Given the description of an element on the screen output the (x, y) to click on. 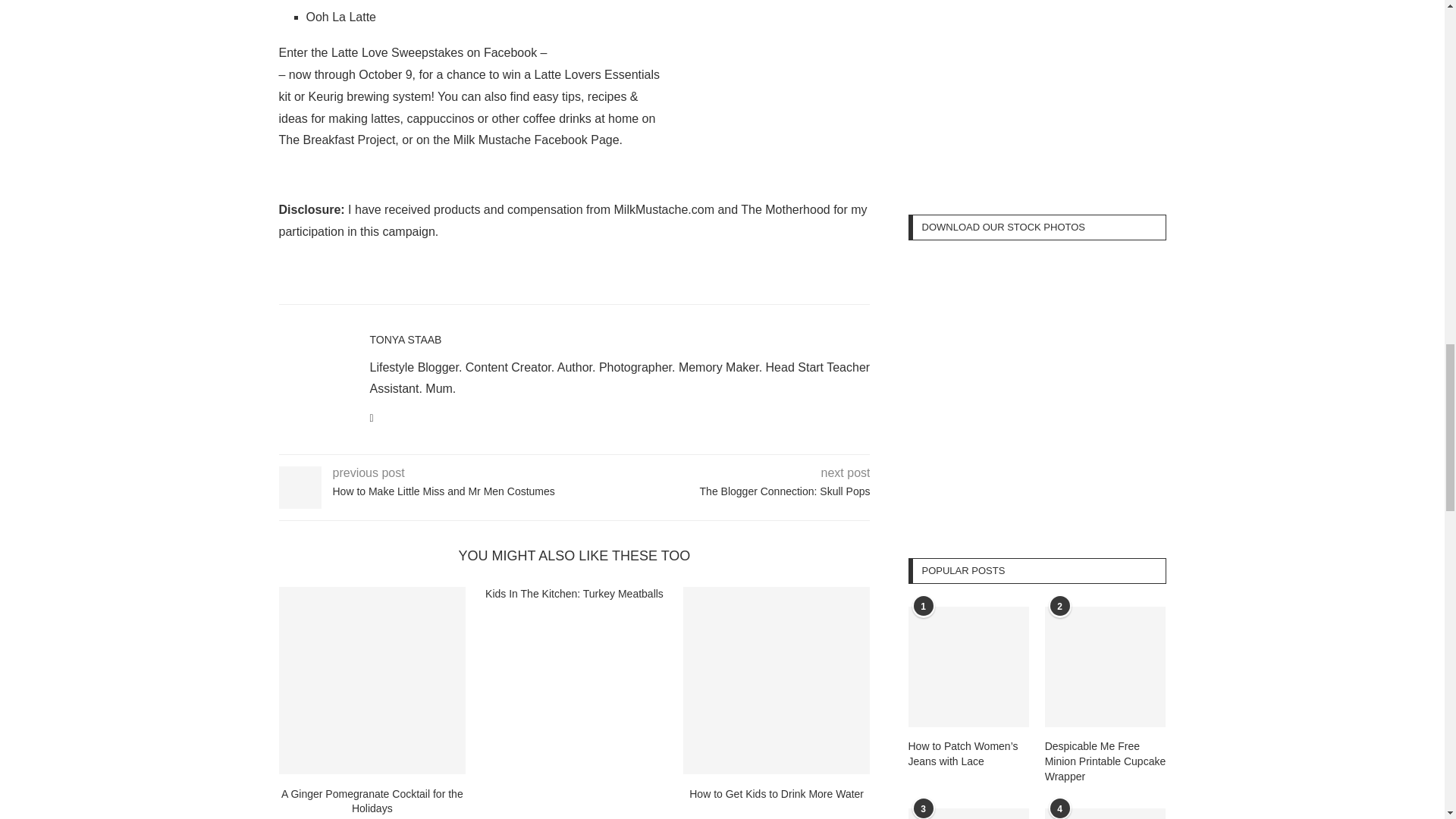
A Ginger Pomegranate Cocktail for the Holidays (372, 680)
How to Get Kids to Drink More Water (776, 680)
TONYA STAAB (405, 339)
Author Tonya Staab (405, 339)
